Given the description of an element on the screen output the (x, y) to click on. 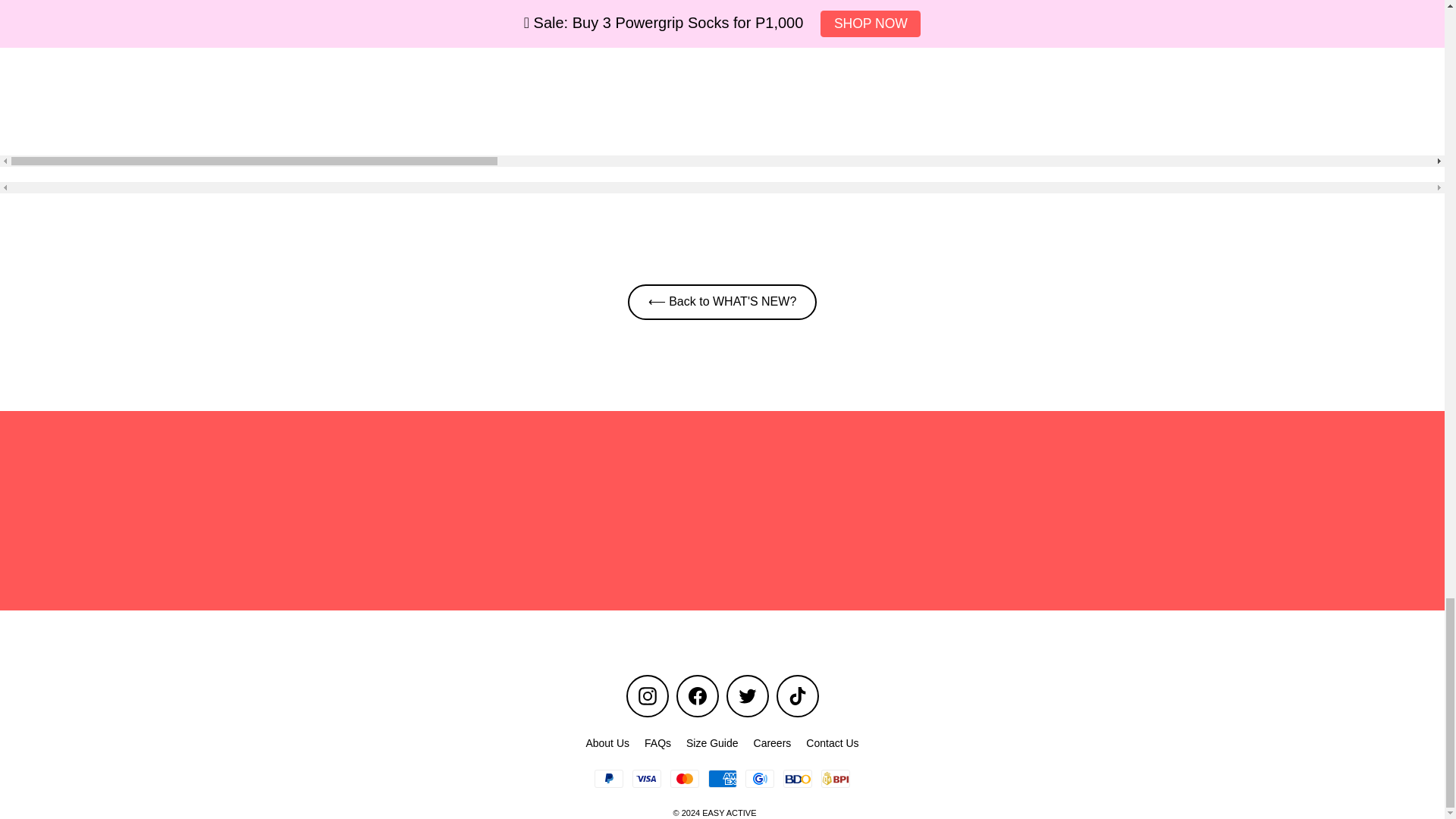
EASY ACTIVE on Facebook (698, 695)
GCash (759, 778)
instagram (647, 696)
PayPal (608, 778)
EASY ACTIVE on TikTok (797, 695)
twitter (747, 696)
American Express (721, 778)
Visa (646, 778)
BPI (835, 778)
EASY ACTIVE on Instagram (647, 695)
